Given the description of an element on the screen output the (x, y) to click on. 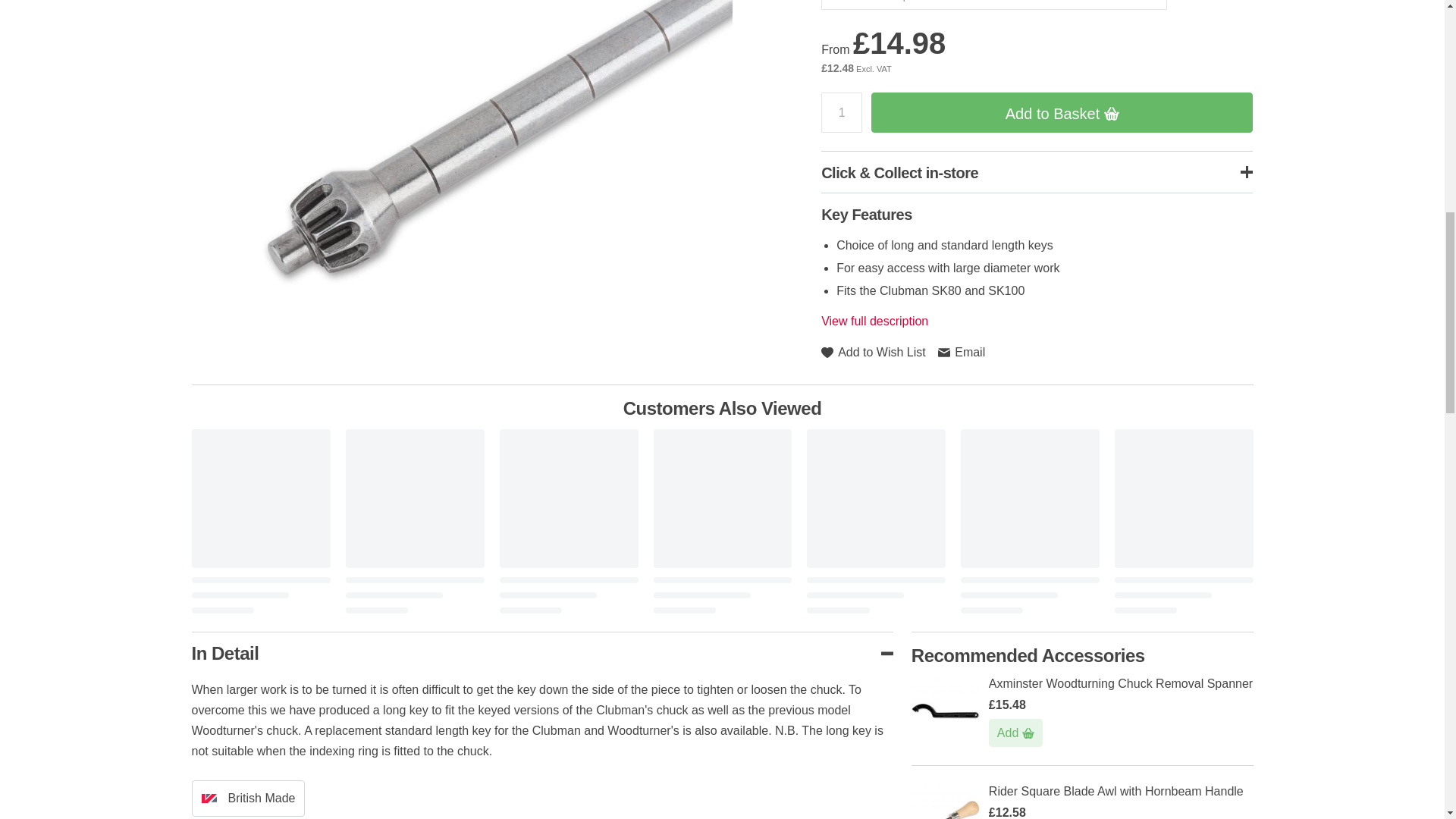
Axminster Woodturning Chuck Removal Spanner (1120, 683)
Rider Square Blade Awl with Hornbeam Handle (1115, 790)
Add to Basket (1015, 732)
Basket (1027, 733)
